Given the description of an element on the screen output the (x, y) to click on. 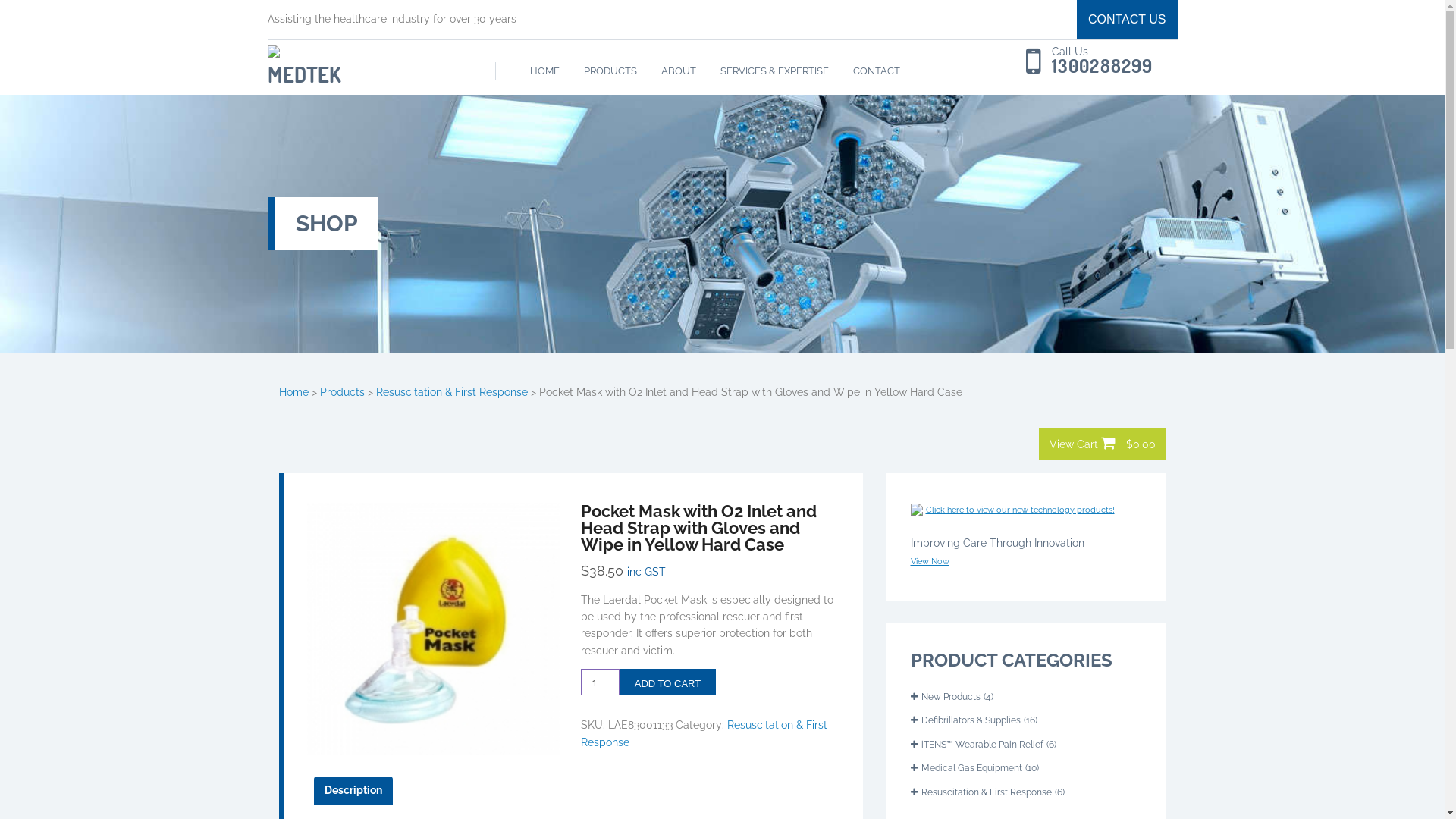
HOME Element type: text (544, 70)
1300288299 Element type: text (1093, 66)
Resuscitation & First Response Element type: text (703, 733)
New Products Element type: text (944, 696)
CONTACT US Element type: text (1126, 19)
CONTACT Element type: text (876, 70)
Resuscitation & First Response Element type: text (980, 792)
View Now Element type: text (929, 560)
PRODUCTS Element type: text (610, 70)
Resuscitation & First Response Element type: text (451, 391)
View Cart $0.00 Element type: text (1102, 444)
7cdab96d10490bddce0917471171f253 Element type: hover (432, 629)
Medical Gas Equipment Element type: text (965, 767)
ABOUT Element type: text (678, 70)
Home Element type: text (293, 391)
SERVICES & EXPERTISE Element type: text (774, 70)
ADD TO CART Element type: text (667, 681)
Qty Element type: hover (599, 681)
Products Element type: text (342, 391)
Defibrillators & Supplies Element type: text (964, 720)
Description Element type: text (353, 789)
Click here to view our new technology products! Element type: text (1019, 508)
